Given the description of an element on the screen output the (x, y) to click on. 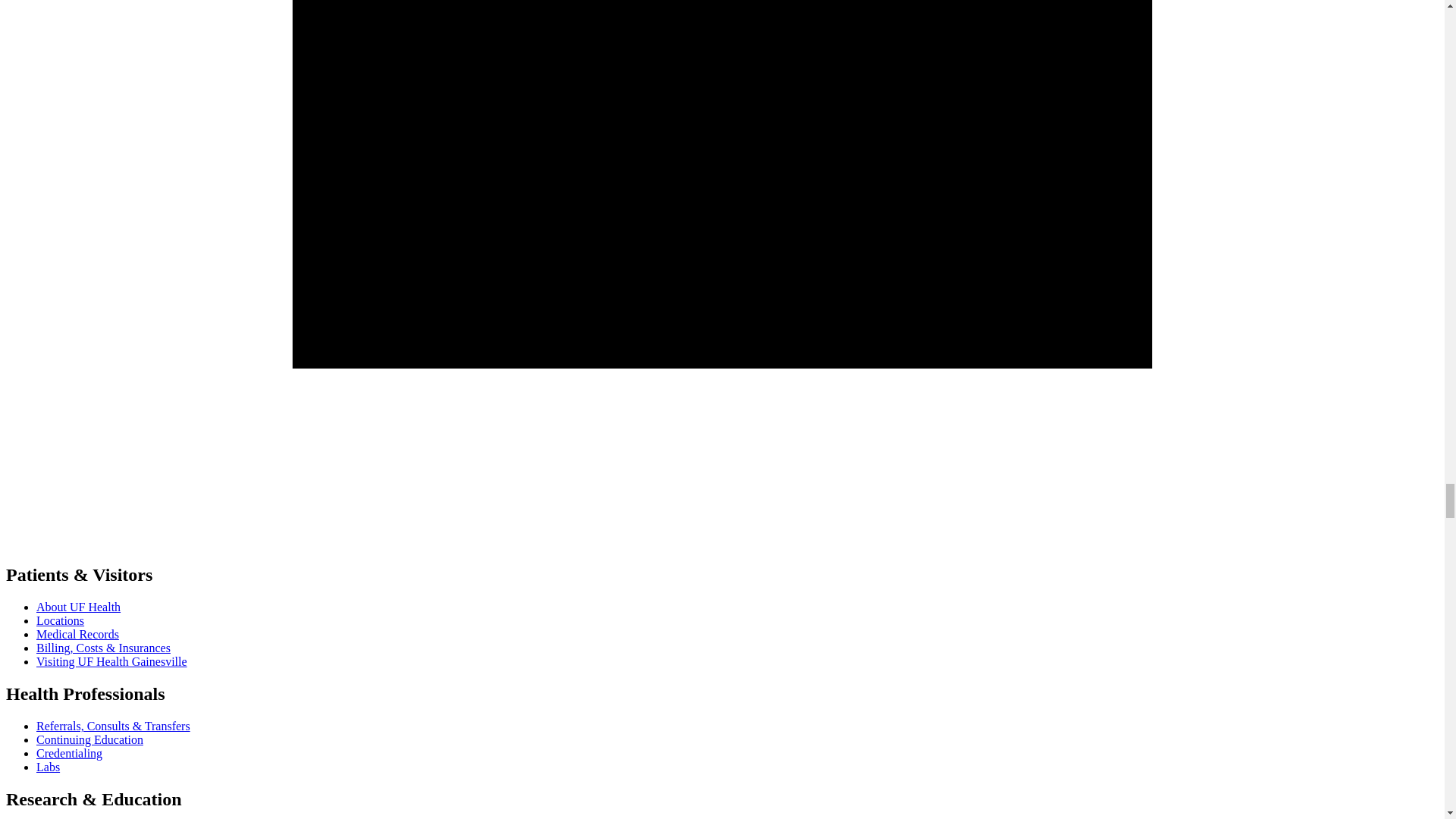
Locations (60, 620)
About UF Health (78, 606)
